Given the description of an element on the screen output the (x, y) to click on. 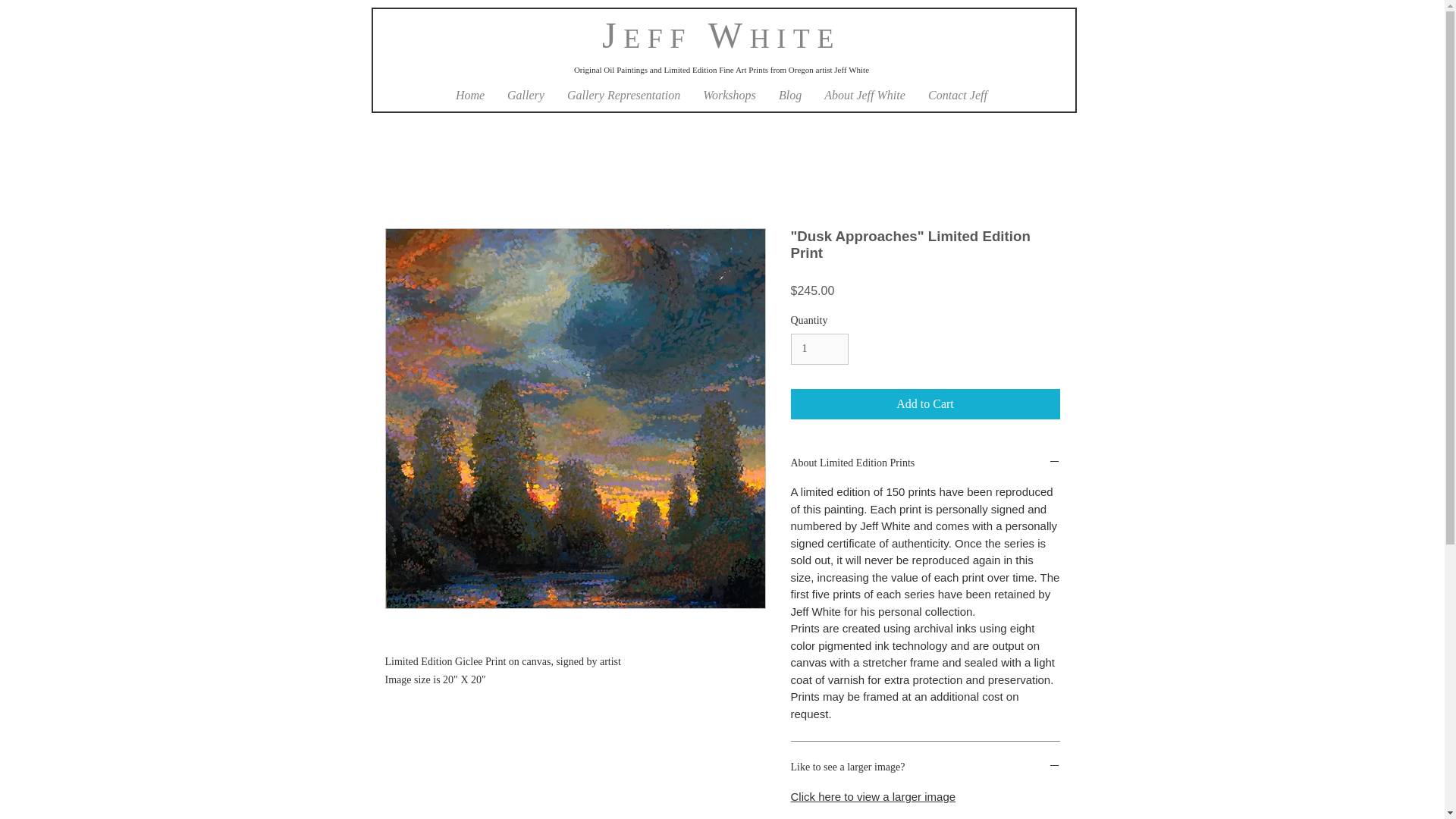
Gallery (526, 95)
Blog (789, 95)
Workshops (729, 95)
HITE (795, 38)
Like to see a larger image? (924, 767)
Contact Jeff (957, 95)
About Jeff White (864, 95)
1 (818, 348)
W (721, 35)
EFF (658, 38)
Gallery Representation (623, 95)
About Limited Edition Prints (924, 463)
Home (470, 95)
Add to Cart (924, 404)
Click here to view a larger image (872, 796)
